Given the description of an element on the screen output the (x, y) to click on. 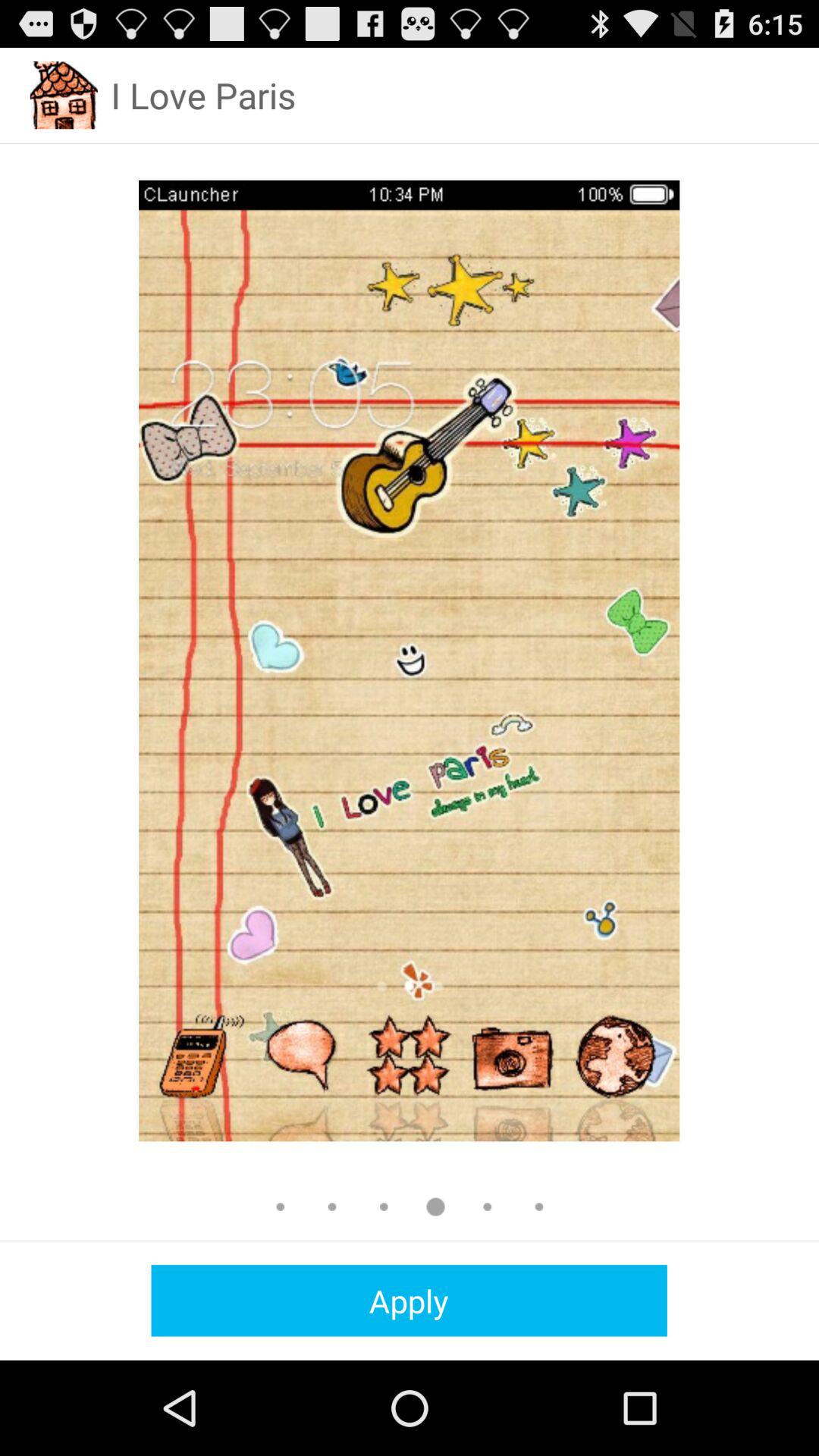
jump until apply item (409, 1300)
